Given the description of an element on the screen output the (x, y) to click on. 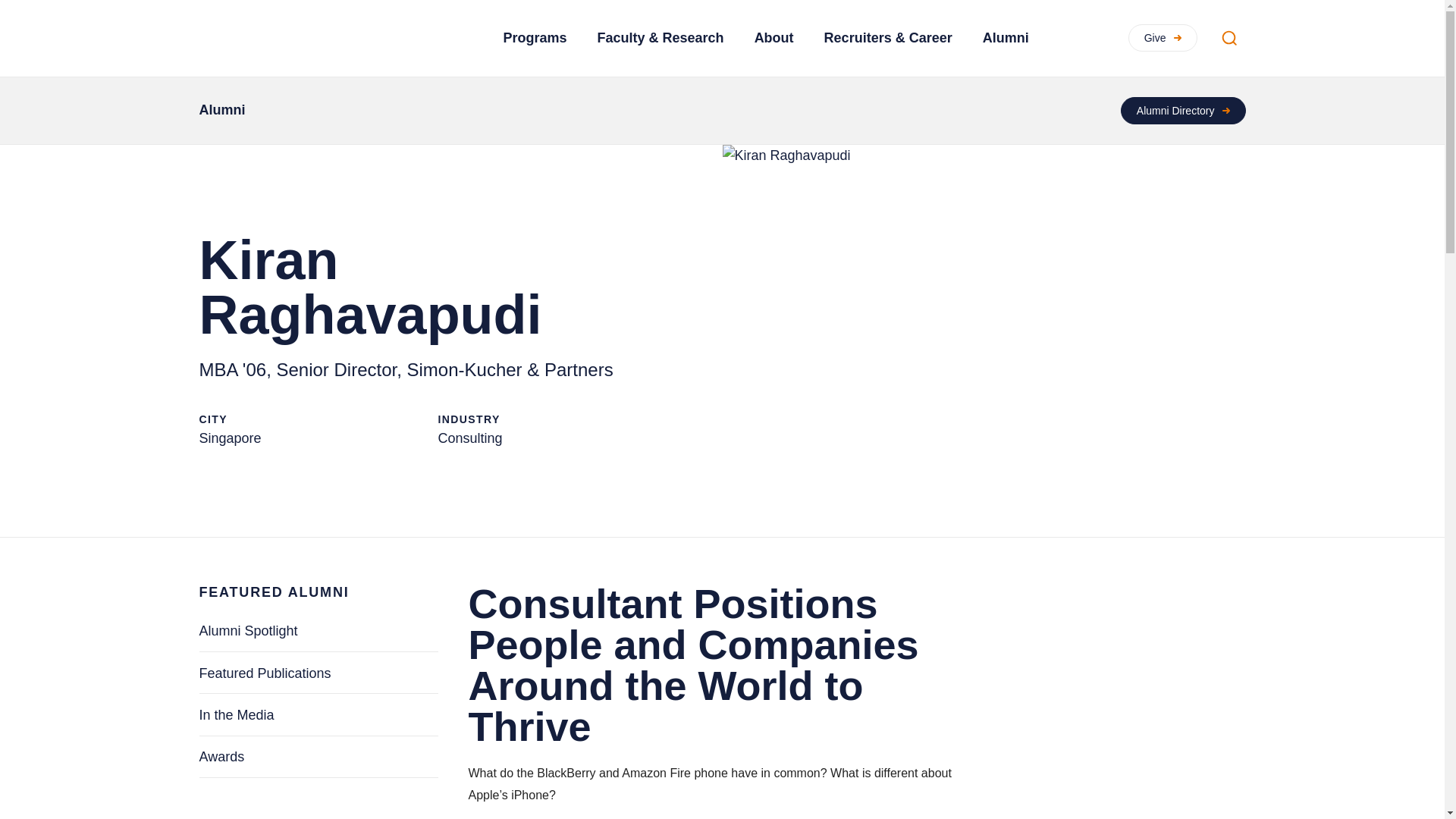
Programs (535, 37)
